Given the description of an element on the screen output the (x, y) to click on. 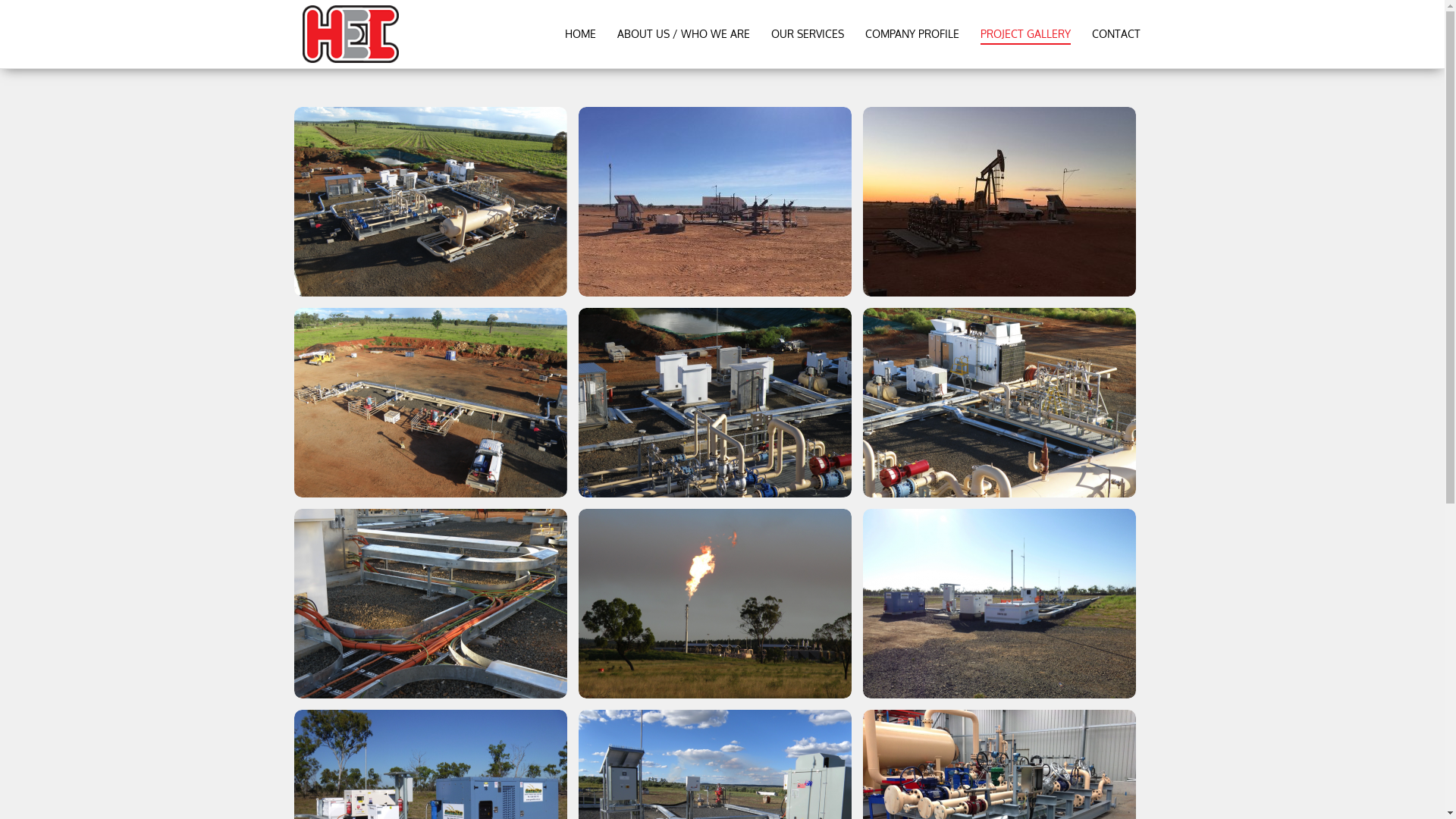
Field Installation Element type: hover (430, 402)
Field Installation Element type: hover (430, 201)
ABOUT US / WHO WE ARE Element type: text (683, 34)
HOME Element type: text (579, 34)
New-Gallery-2 Element type: hover (998, 201)
COMPANY PROFILE Element type: text (911, 34)
New-Gallery-1 Element type: hover (713, 201)
Field Installation Element type: hover (998, 402)
Field Installation Element type: hover (713, 603)
Field Installation Element type: hover (998, 603)
CONTACT Element type: text (1116, 34)
Field Installation Element type: hover (430, 603)
OUR SERVICES Element type: text (806, 34)
PROJECT GALLERY Element type: text (1024, 34)
Field Installation Element type: hover (713, 402)
